Given the description of an element on the screen output the (x, y) to click on. 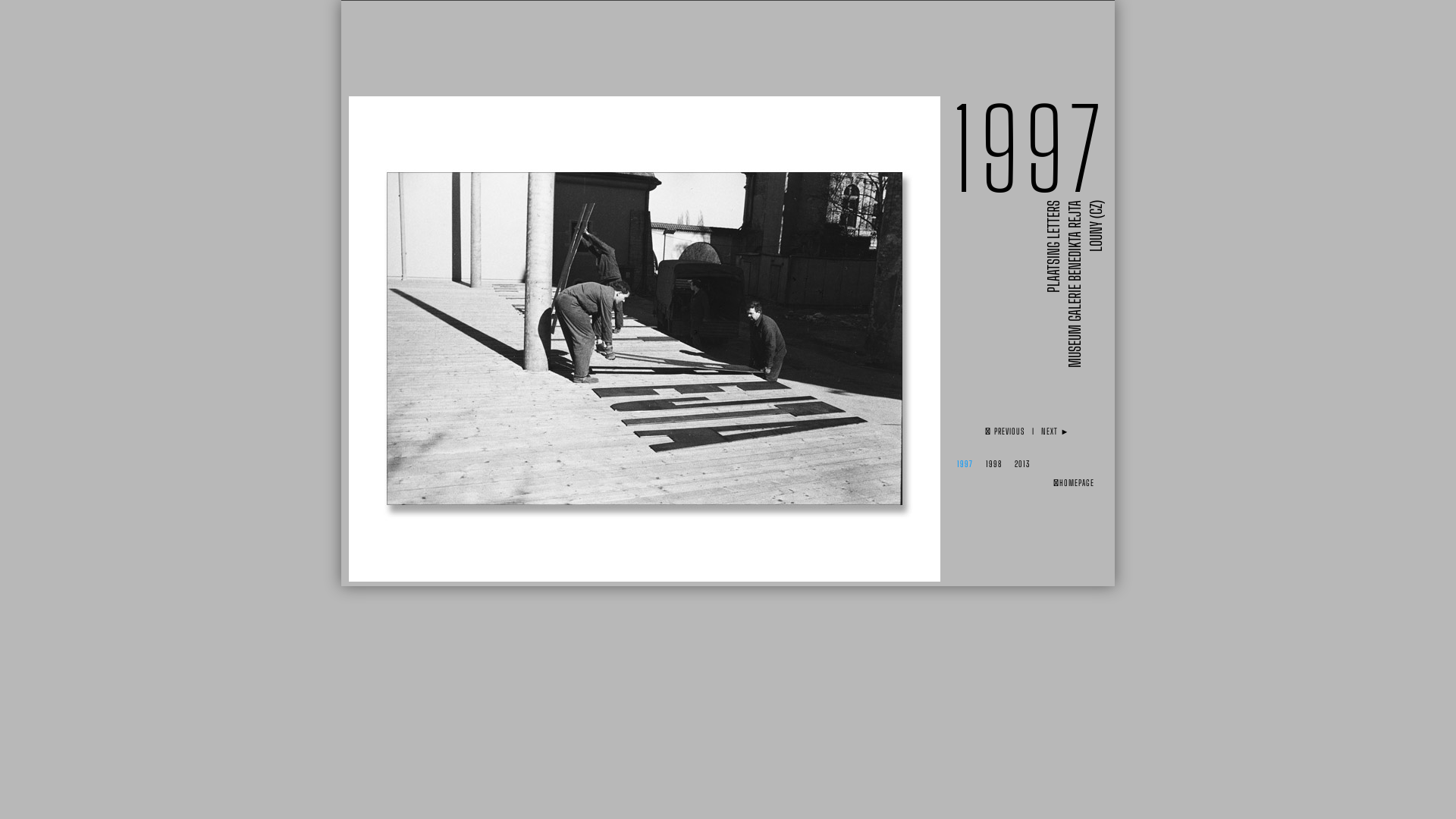
1997 Element type: text (964, 463)
2013 Element type: text (1021, 463)
1998 Element type: text (993, 463)
